Given the description of an element on the screen output the (x, y) to click on. 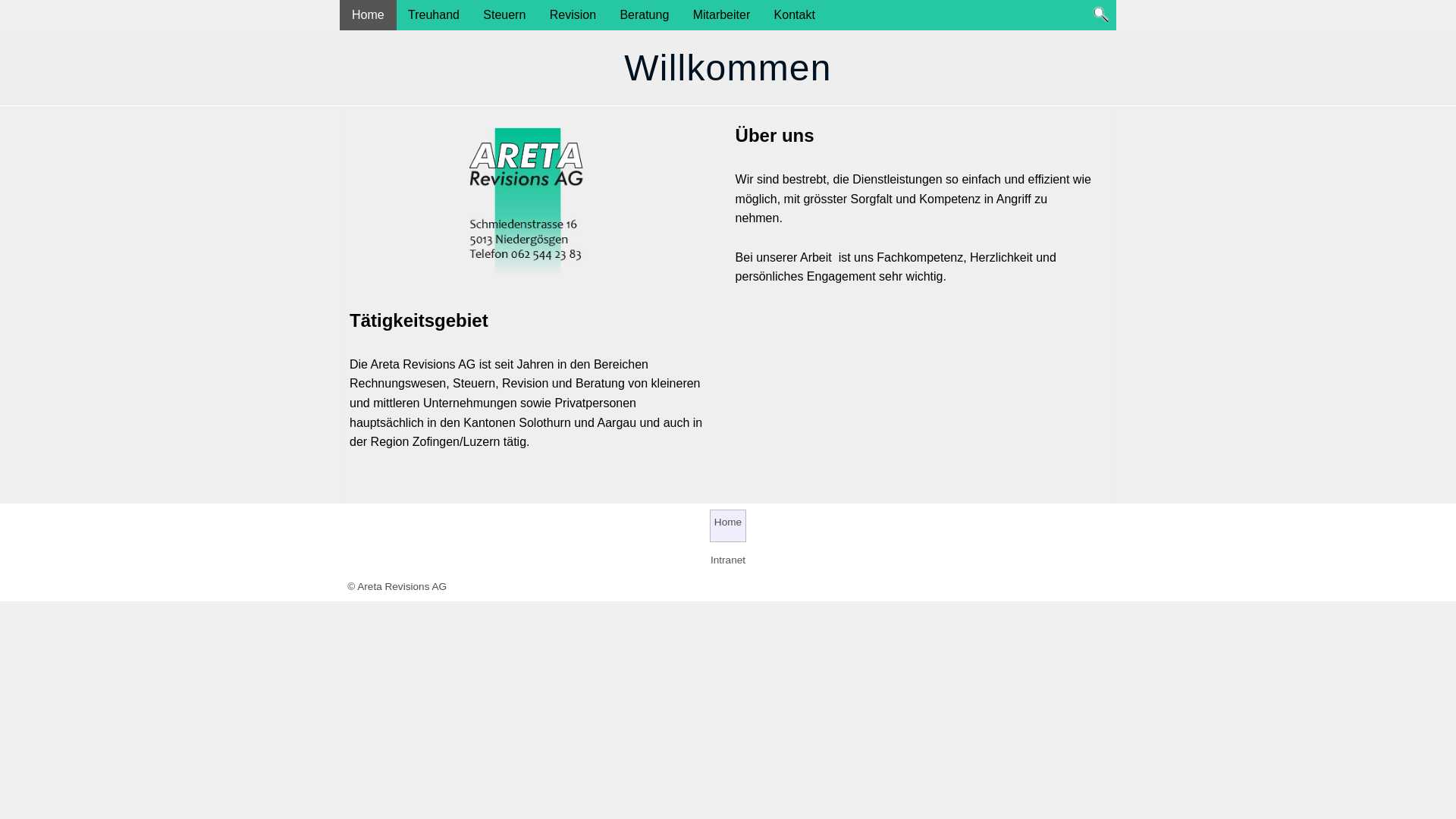
Logo Areta transparent gimp 2 Element type: hover (527, 204)
Steuern Element type: text (503, 15)
Home Element type: text (367, 15)
Mitarbeiter Element type: text (721, 15)
Kontakt Element type: text (794, 15)
Home Element type: text (727, 525)
Revision Element type: text (572, 15)
Beratung Element type: text (643, 15)
Intranet Element type: text (727, 559)
Suchen Element type: hover (1100, 14)
Treuhand Element type: text (433, 15)
